Given the description of an element on the screen output the (x, y) to click on. 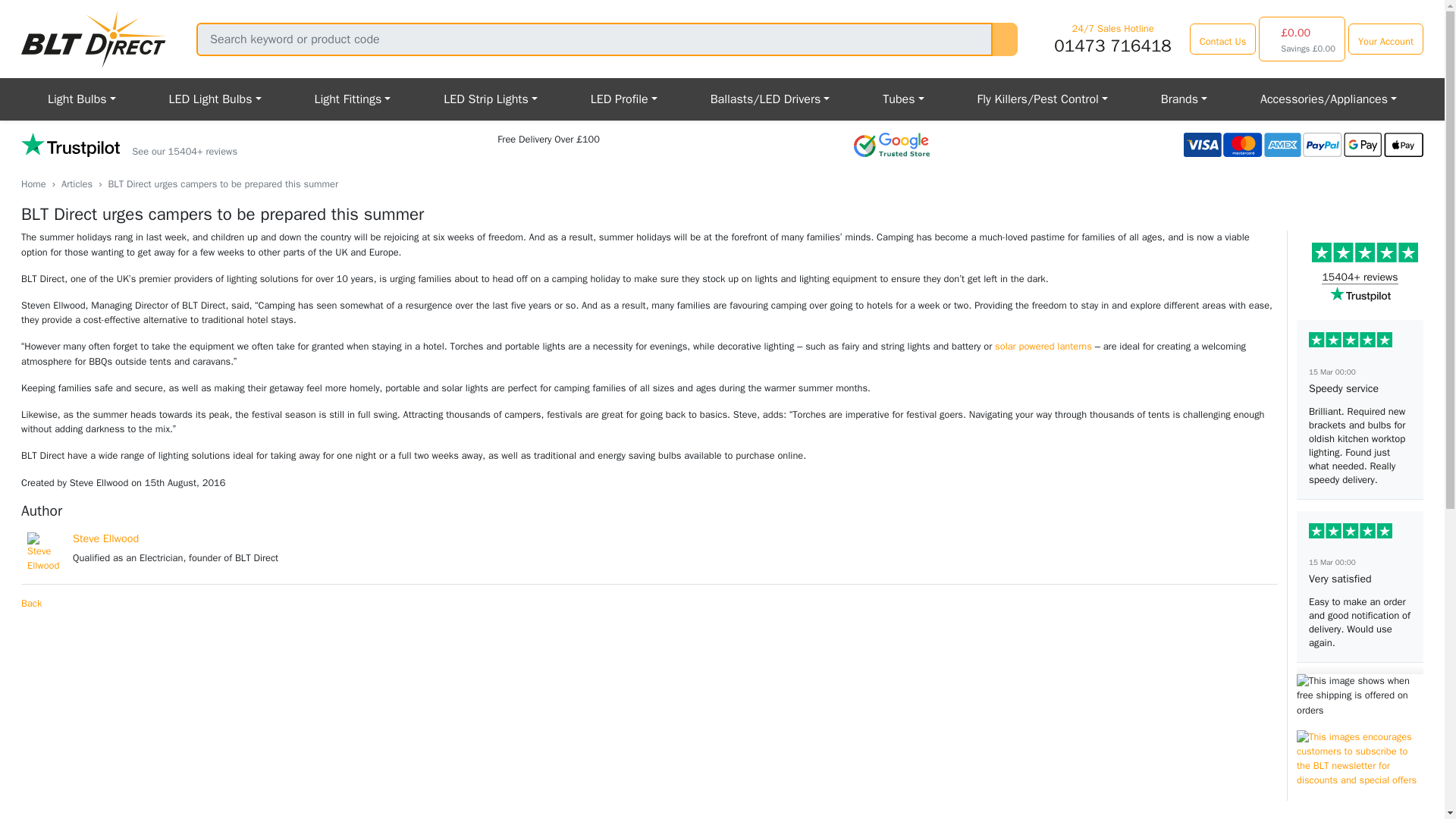
Home (33, 184)
Light Bulbs (81, 99)
Subscribe to BLT Direct (1360, 759)
Brands (1183, 99)
Subscribe to BLT Direct (1360, 788)
LED Strip Lights (489, 99)
LED Strip Lights (489, 99)
Google Trust Store (891, 143)
Light Bulbs (81, 99)
Light Fittings (351, 99)
01473 716418 (1112, 45)
Articles (77, 184)
solar powered lanterns (1043, 346)
TrustPilot (129, 145)
Your Account (1385, 38)
